Given the description of an element on the screen output the (x, y) to click on. 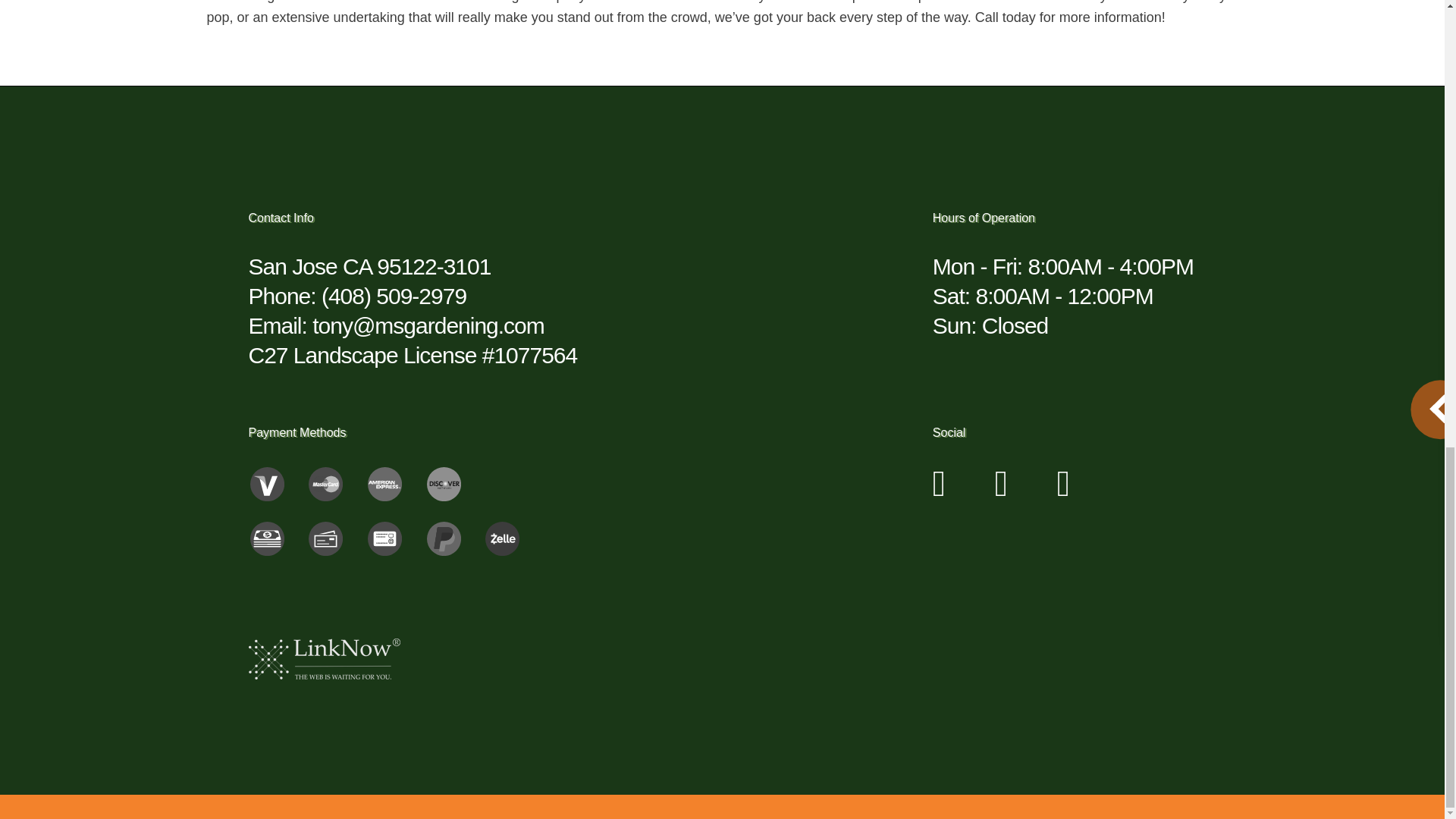
Instagram (939, 491)
Google Maps (1063, 491)
Facebook (1001, 491)
